Given the description of an element on the screen output the (x, y) to click on. 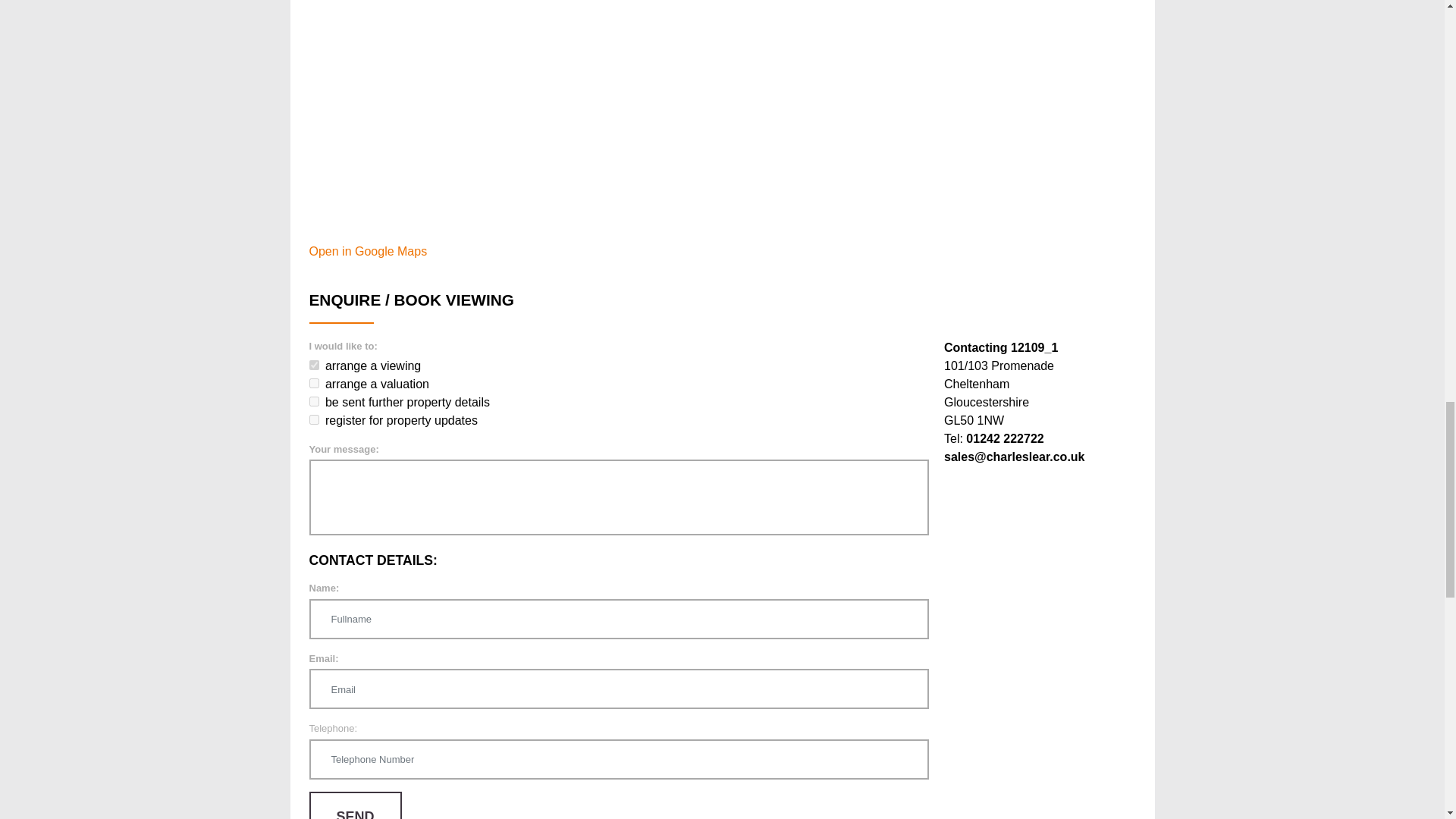
true (313, 419)
true (313, 365)
Send (354, 805)
true (313, 401)
true (313, 383)
